Given the description of an element on the screen output the (x, y) to click on. 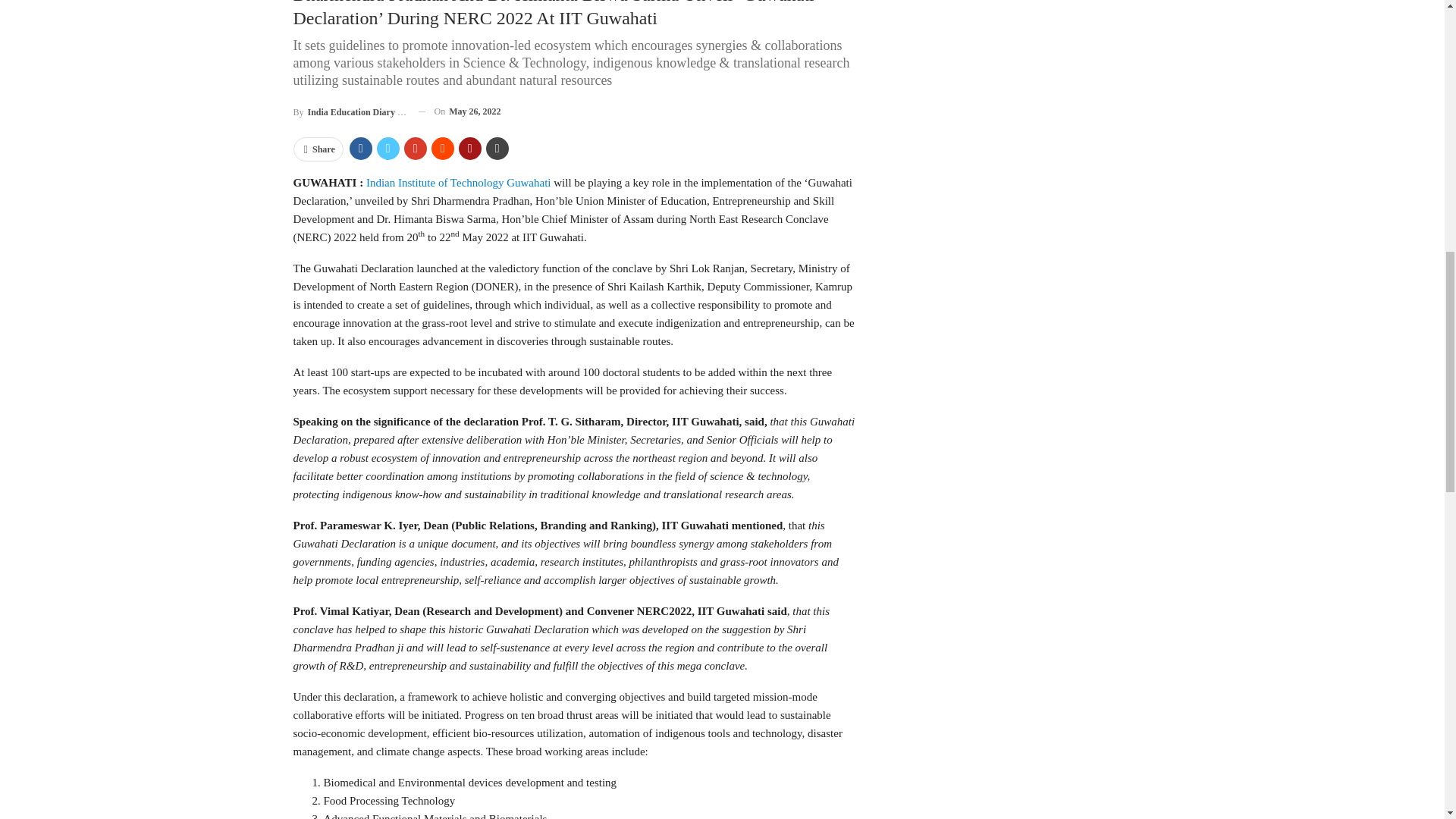
Browse Author Articles (349, 111)
